Given the description of an element on the screen output the (x, y) to click on. 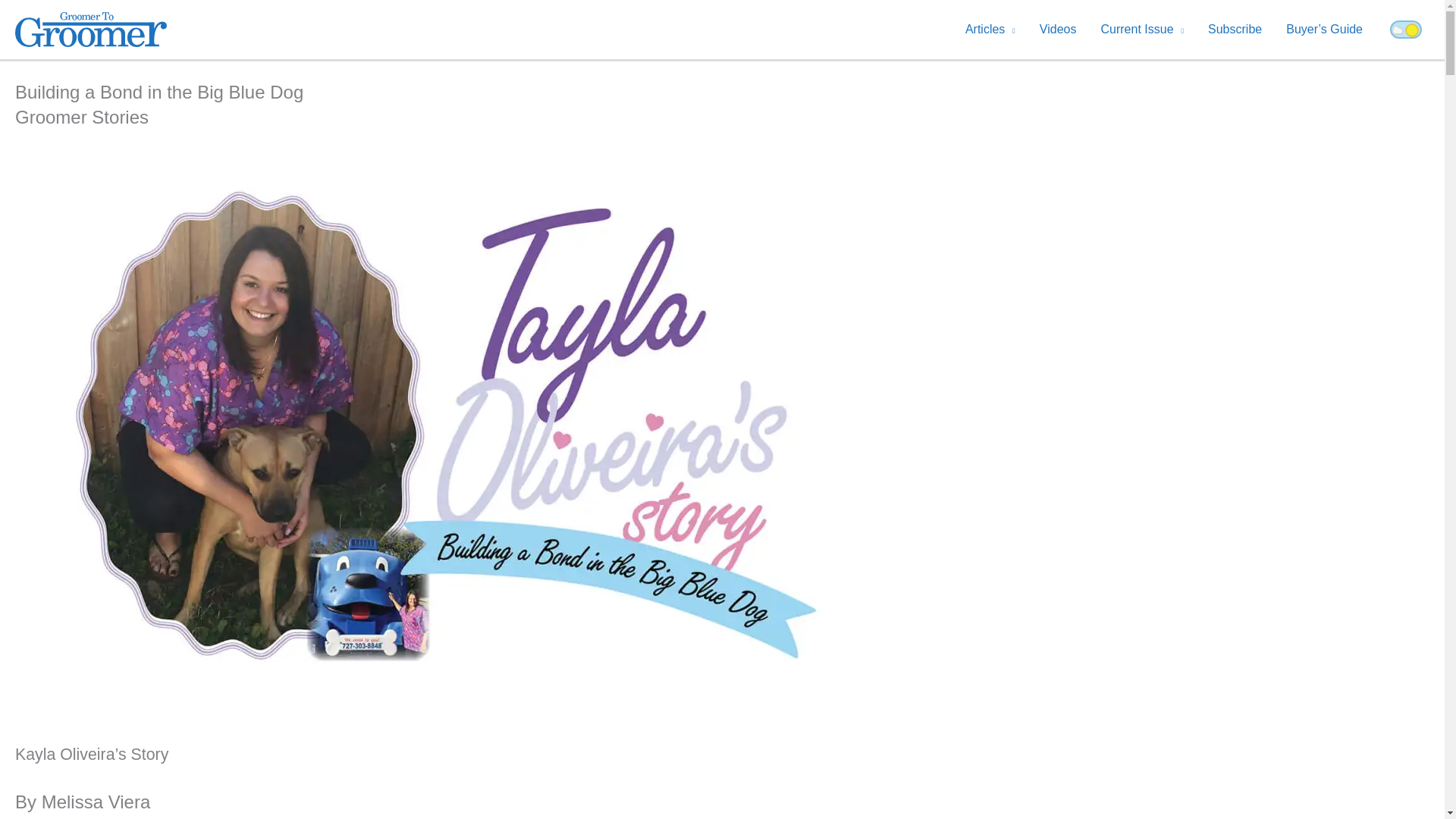
Videos (1058, 29)
Current Issue (1141, 29)
Subscribe (1234, 29)
Articles (990, 29)
